Given the description of an element on the screen output the (x, y) to click on. 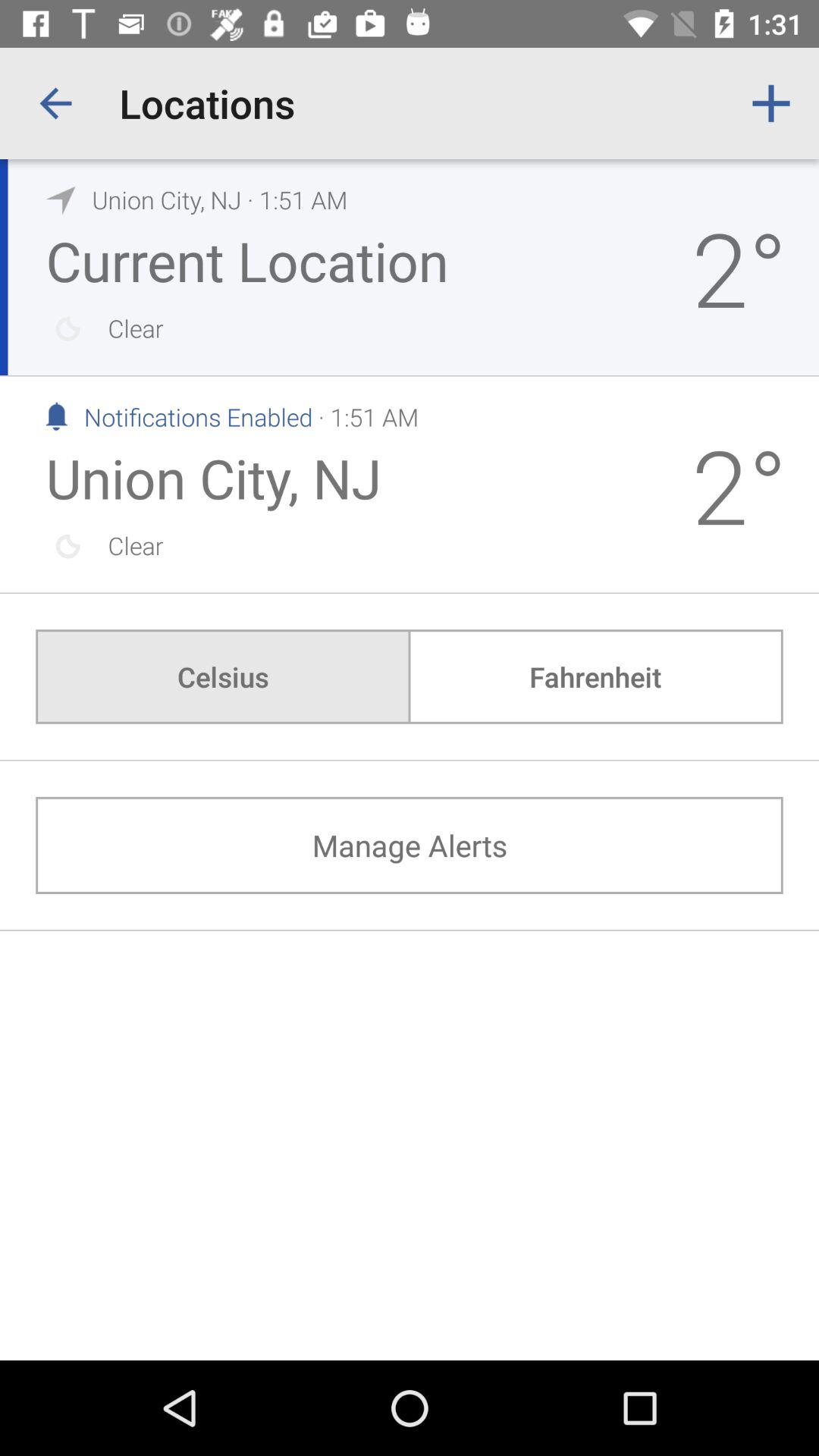
open the celsius icon (223, 676)
